Given the description of an element on the screen output the (x, y) to click on. 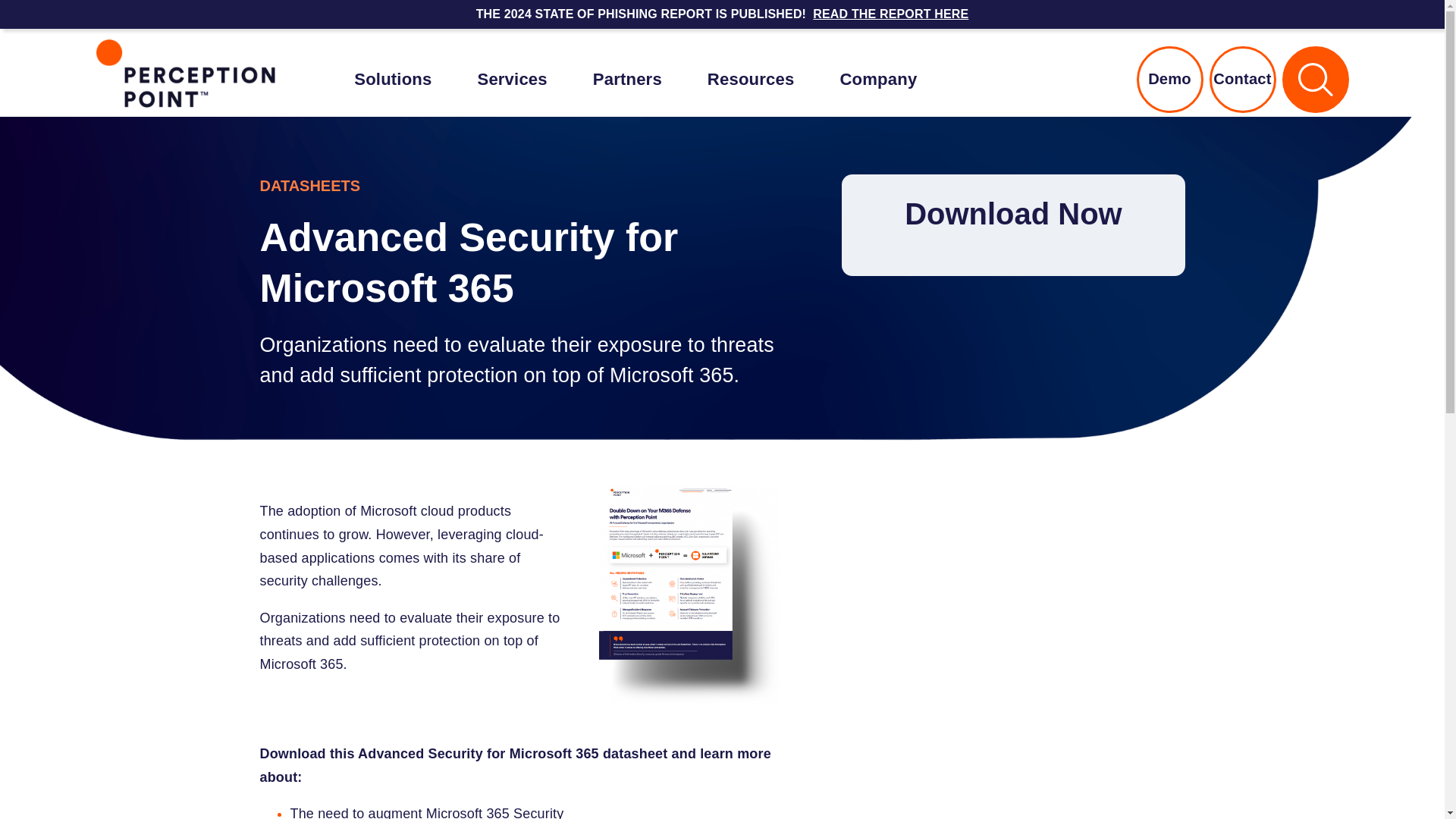
Solutions (391, 78)
READ THE REPORT HERE (890, 13)
